Given the description of an element on the screen output the (x, y) to click on. 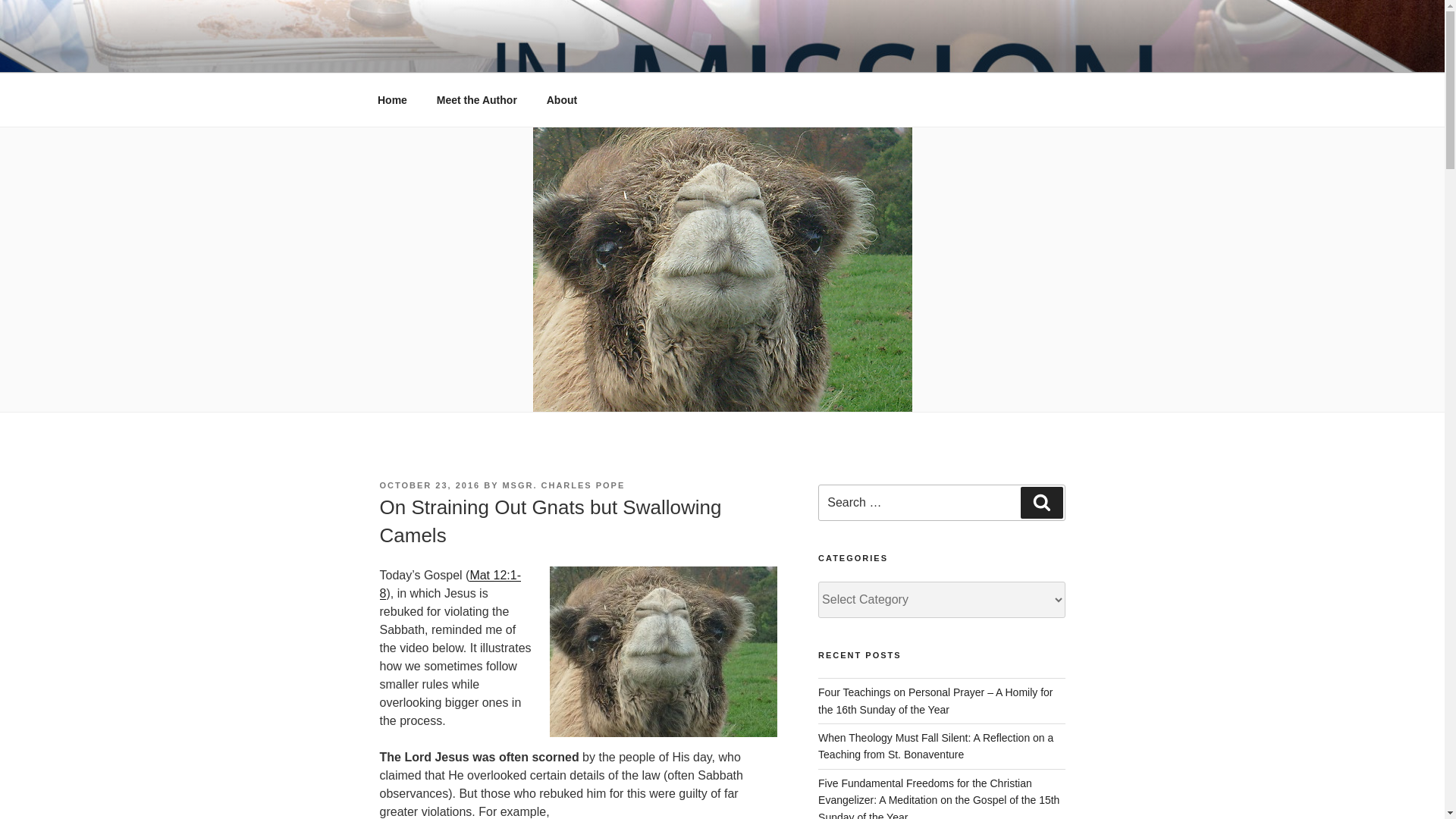
COMMUNITY IN MISSION (563, 52)
About (560, 99)
OCTOBER 23, 2016 (429, 484)
Mat 12:1-8 (448, 583)
MSGR. CHARLES POPE (563, 484)
Home (392, 99)
Meet the Author (476, 99)
Search (1041, 502)
